Given the description of an element on the screen output the (x, y) to click on. 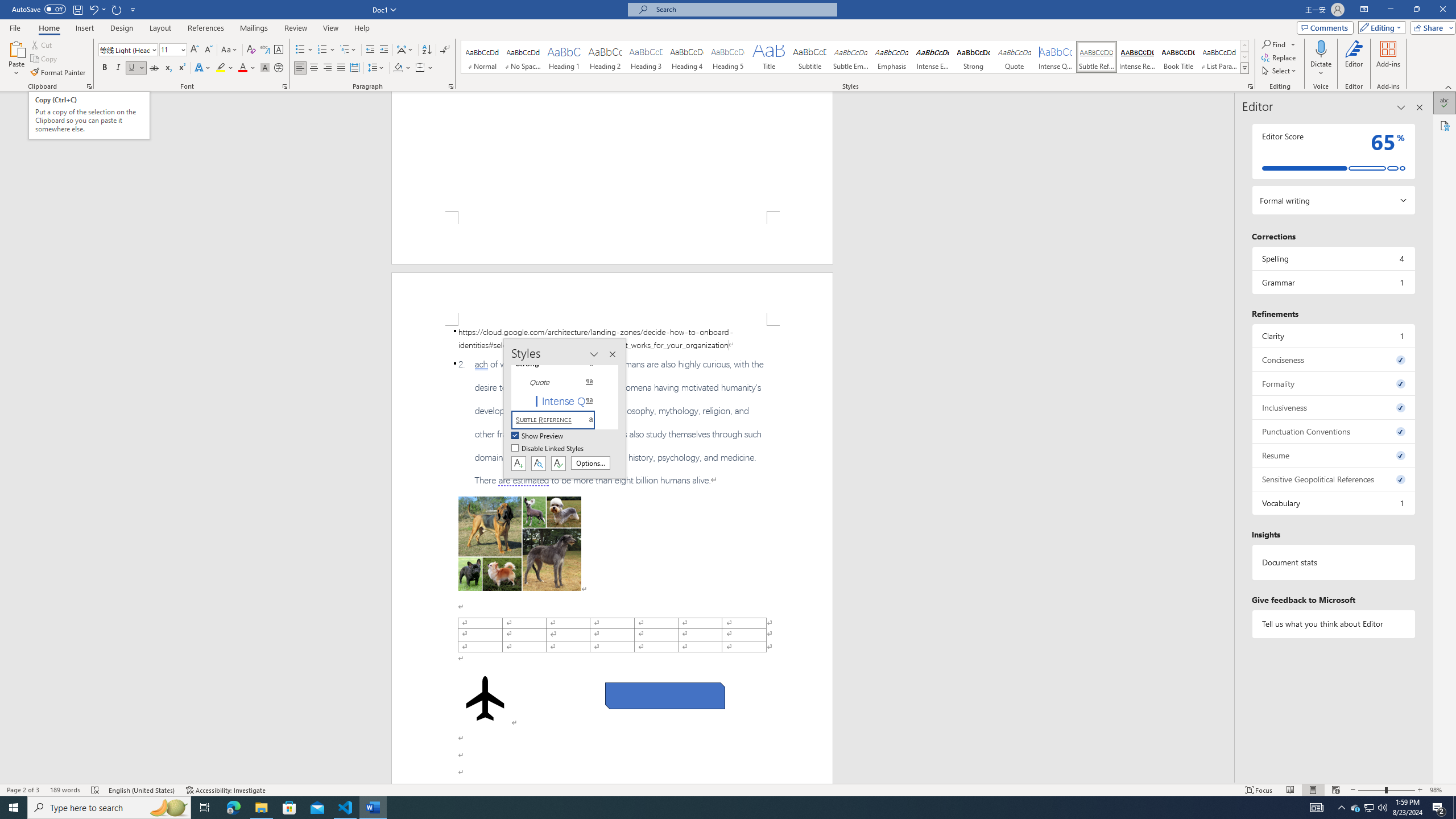
Editor Score 65% (1333, 151)
Heading 5 (727, 56)
Show Preview (537, 436)
